Given the description of an element on the screen output the (x, y) to click on. 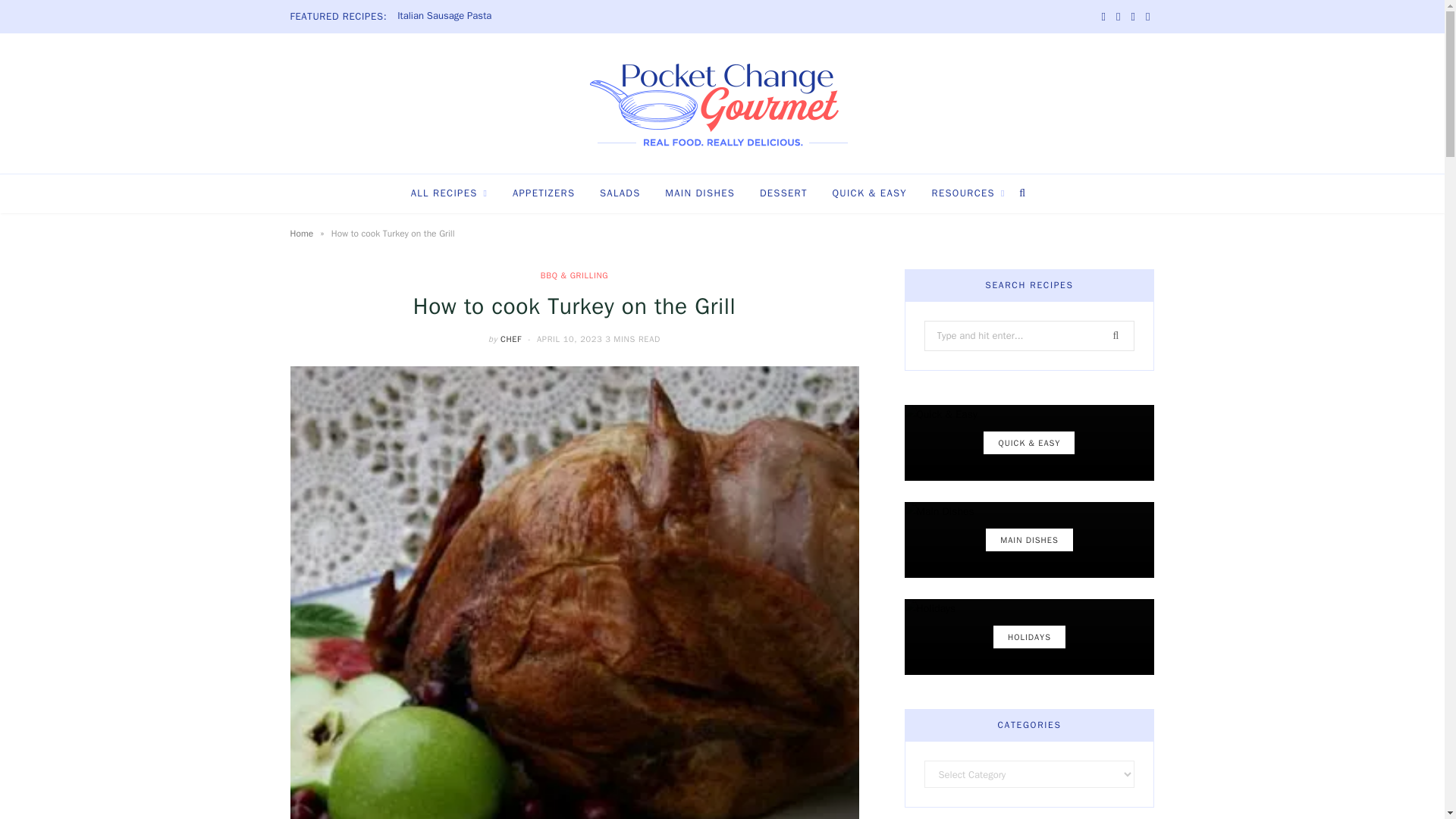
Italian Sausage Pasta (448, 15)
ALL RECIPES (449, 192)
Italian Sausage Pasta (448, 15)
Pocket Change Gourmet (722, 105)
Posts by Chef (510, 338)
